Given the description of an element on the screen output the (x, y) to click on. 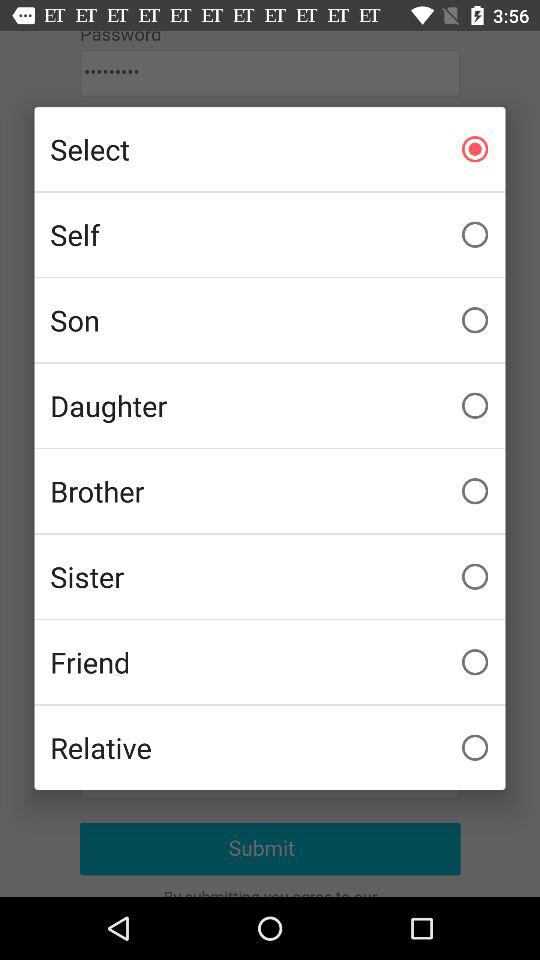
select select item (269, 149)
